Given the description of an element on the screen output the (x, y) to click on. 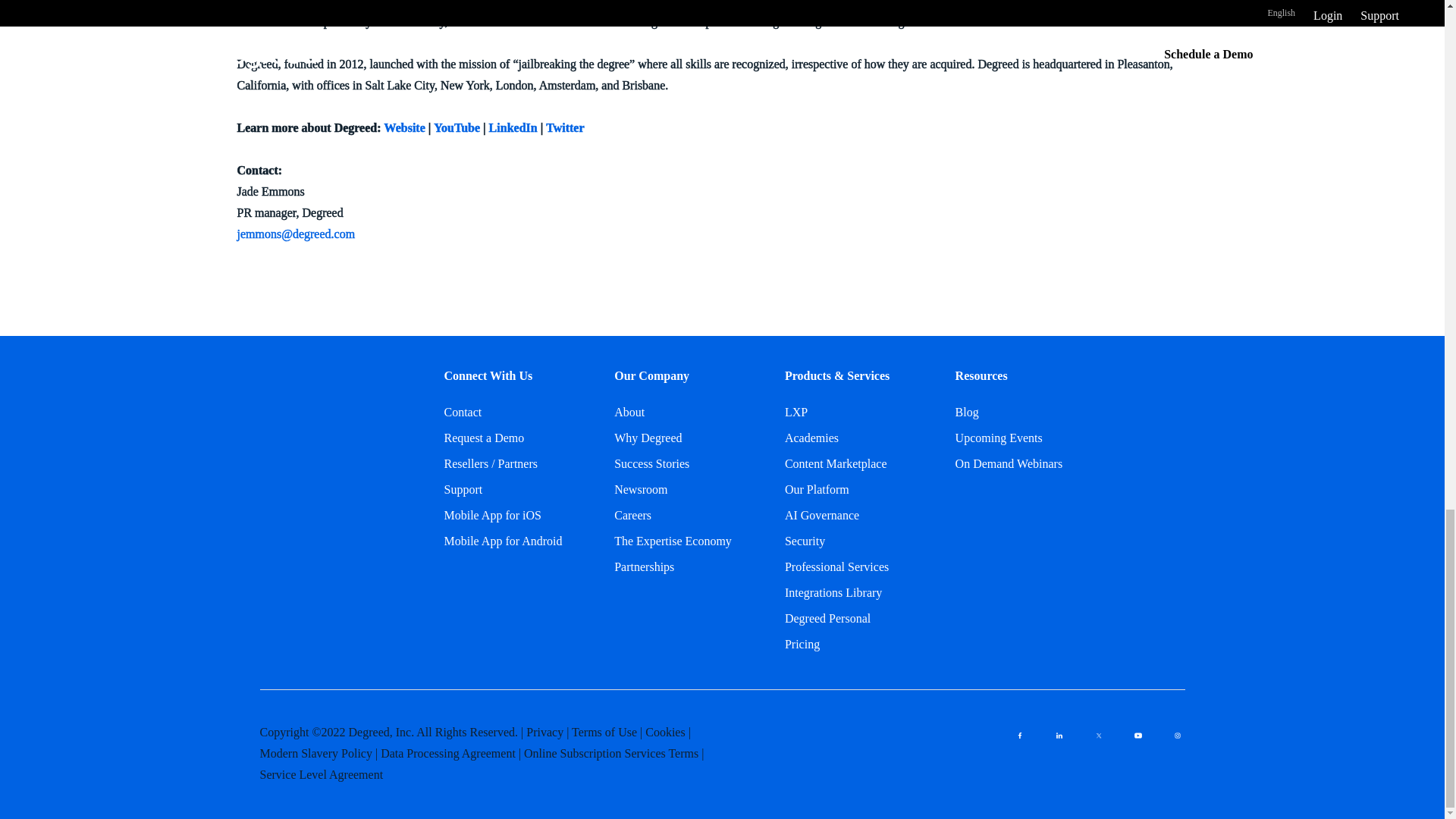
logo-footer (315, 404)
